Given the description of an element on the screen output the (x, y) to click on. 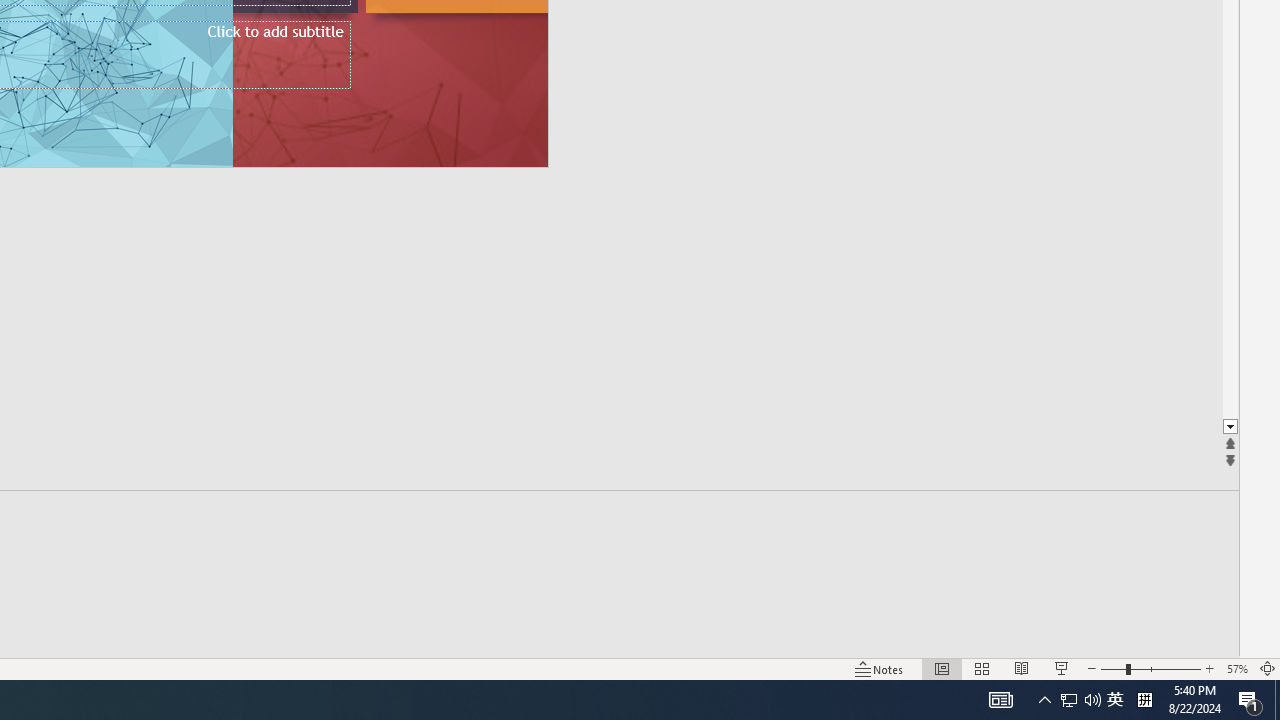
Q2790: 100% (1092, 699)
Notification Chevron (1044, 699)
Show desktop (1115, 699)
AutomationID: 4105 (1277, 699)
Tray Input Indicator - Chinese (Simplified, China) (1000, 699)
